Given the description of an element on the screen output the (x, y) to click on. 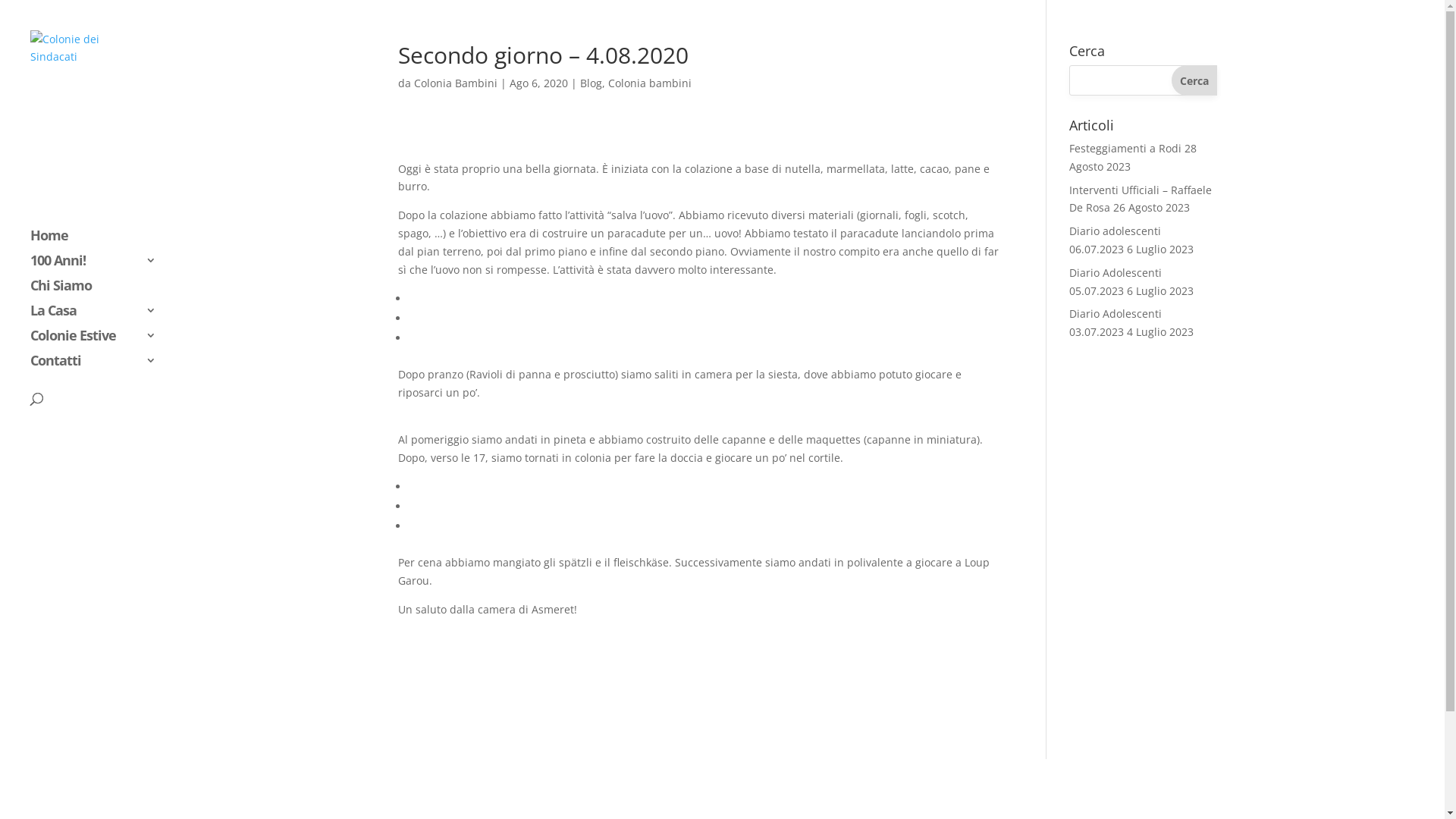
Colonie Estive Element type: text (100, 341)
Festeggiamenti a Rodi Element type: text (1125, 148)
Colonia Bambini Element type: text (455, 82)
Contatti Element type: text (100, 366)
Colonia bambini Element type: text (649, 82)
Diario Adolescenti 05.07.2023 Element type: text (1115, 281)
La Casa Element type: text (100, 316)
Chi Siamo Element type: text (100, 291)
100 Anni! Element type: text (100, 266)
Diario adolescenti 06.07.2023 Element type: text (1115, 239)
Blog Element type: text (591, 82)
Home Element type: text (100, 241)
Cerca Element type: text (1194, 80)
Diario Adolescenti 03.07.2023 Element type: text (1115, 322)
